Given the description of an element on the screen output the (x, y) to click on. 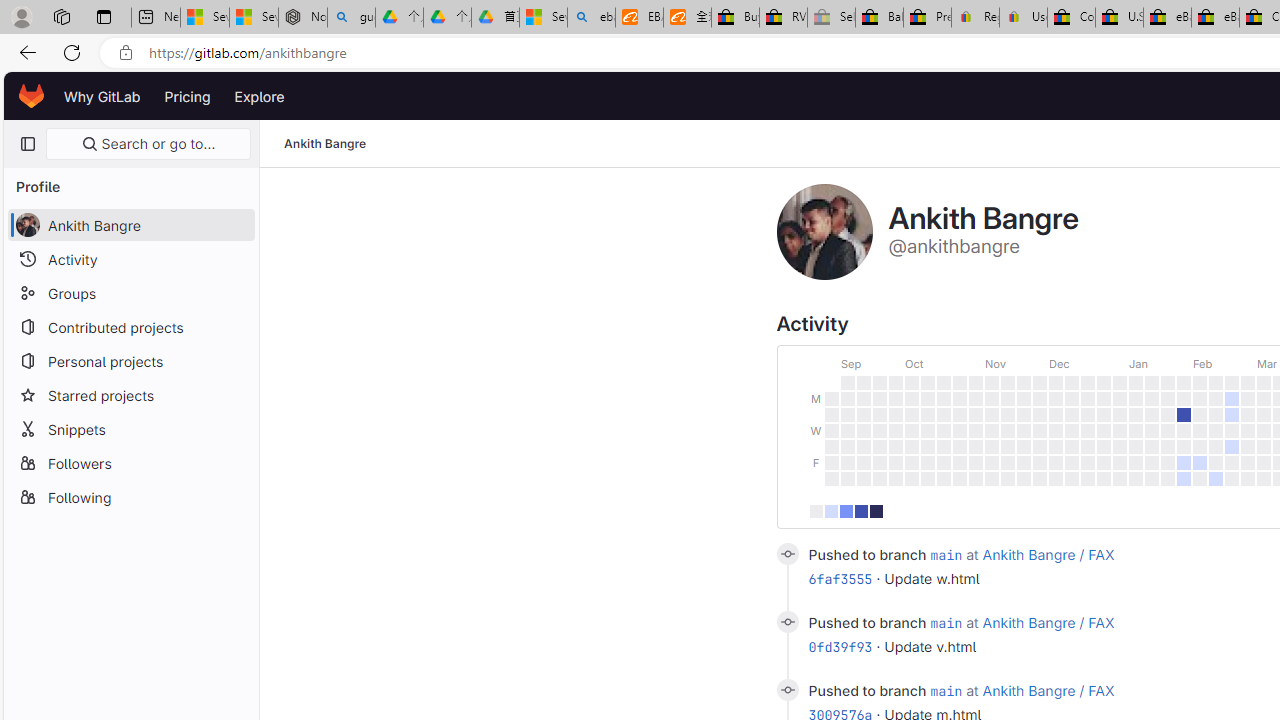
Groups (130, 292)
User profile picture (823, 232)
Class: s14 (786, 689)
